Given the description of an element on the screen output the (x, y) to click on. 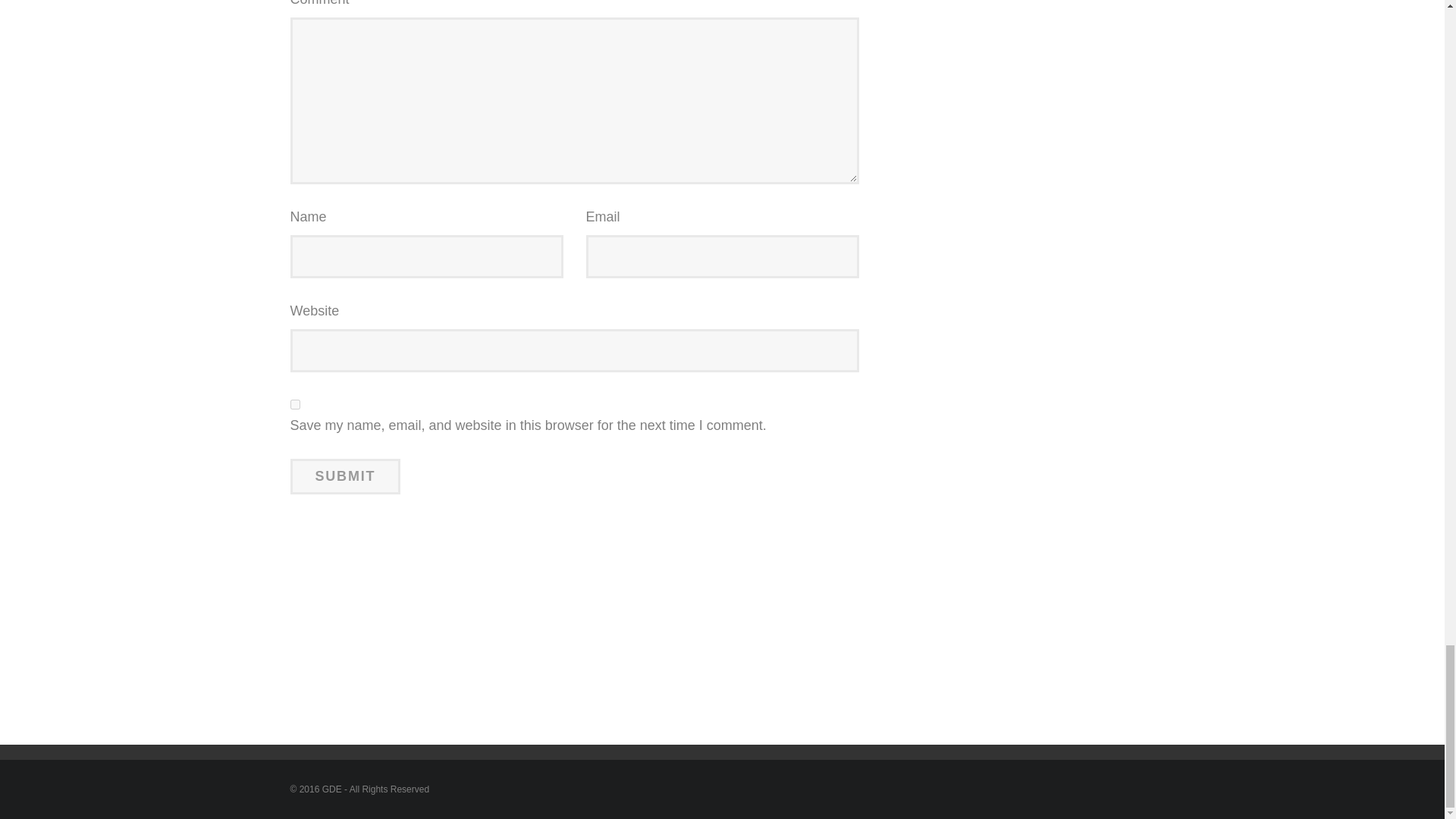
Submit (344, 476)
yes (294, 404)
